Given the description of an element on the screen output the (x, y) to click on. 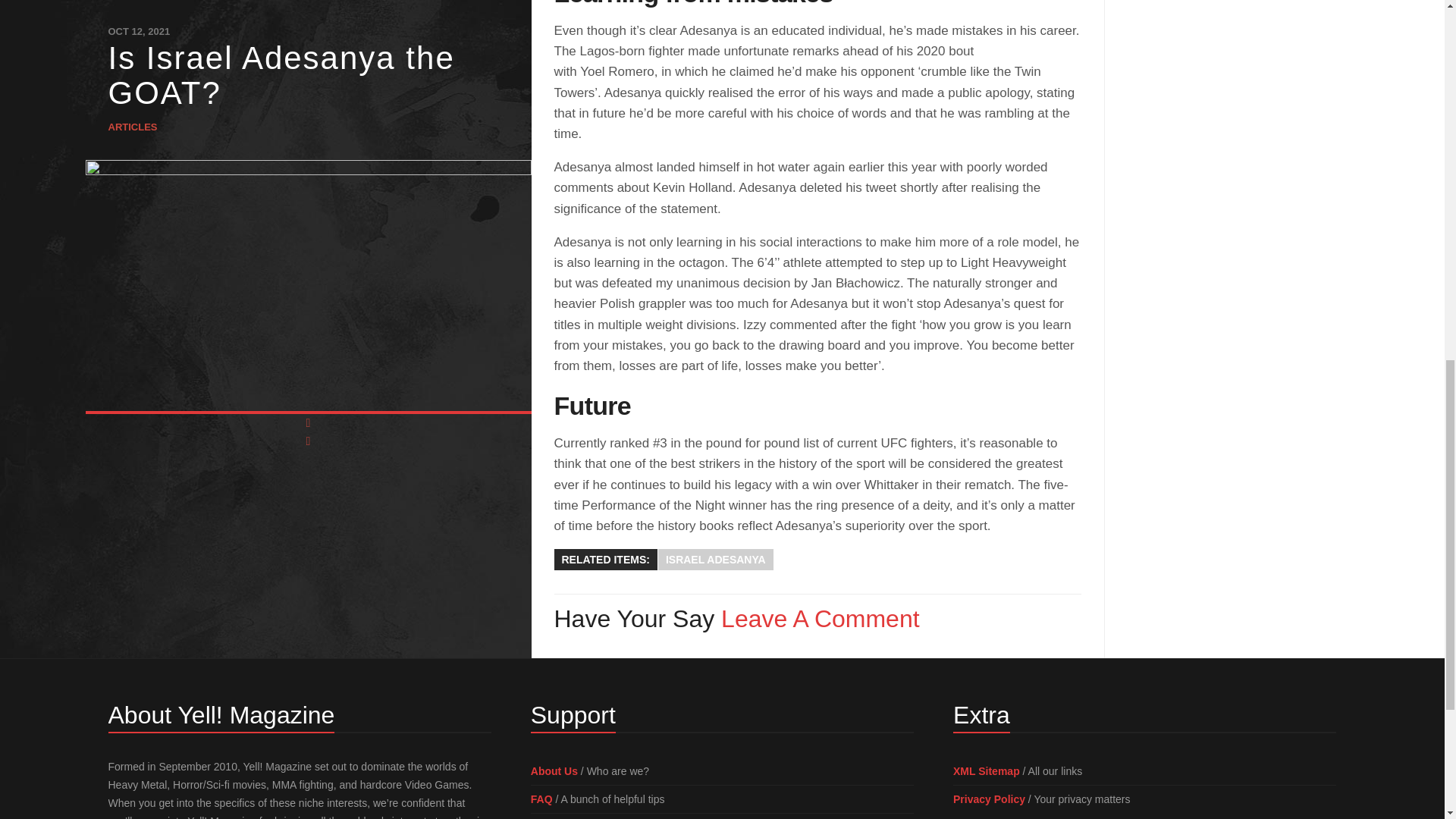
ISRAEL ADESANYA (715, 559)
